Given the description of an element on the screen output the (x, y) to click on. 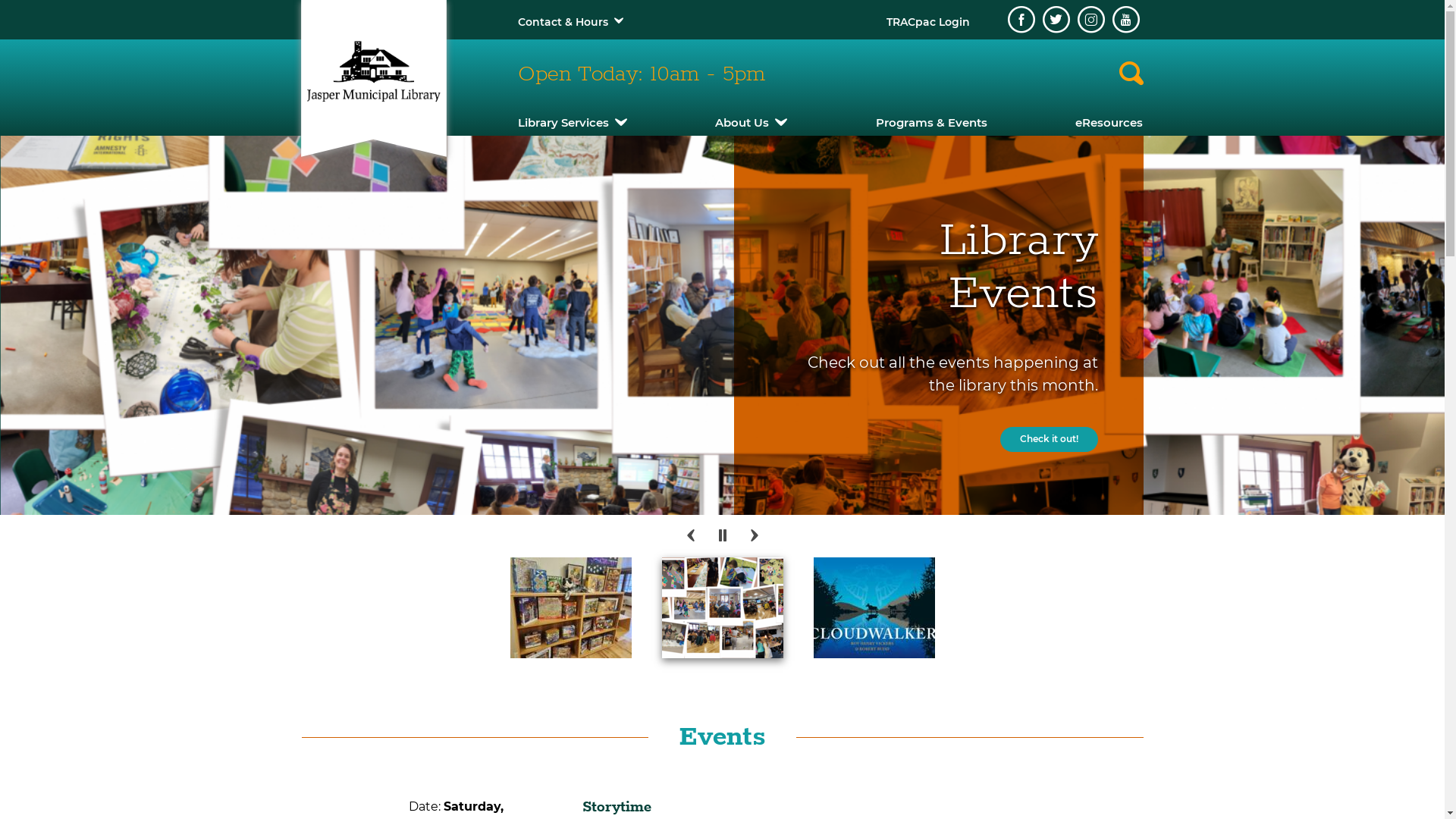
Twitter Element type: hover (1055, 19)
eResources Element type: text (1108, 122)
TRACpac Login Element type: text (927, 21)
Instagram Element type: hover (1090, 19)
Contact & Hours Element type: text (562, 21)
Facebook Element type: hover (1020, 19)
Library Services Element type: text (571, 122)
Programs & Events Element type: text (931, 122)
Jasper Municipal Library Element type: hover (372, 70)
Youtube Element type: hover (1125, 19)
About Us Element type: text (751, 122)
